Given the description of an element on the screen output the (x, y) to click on. 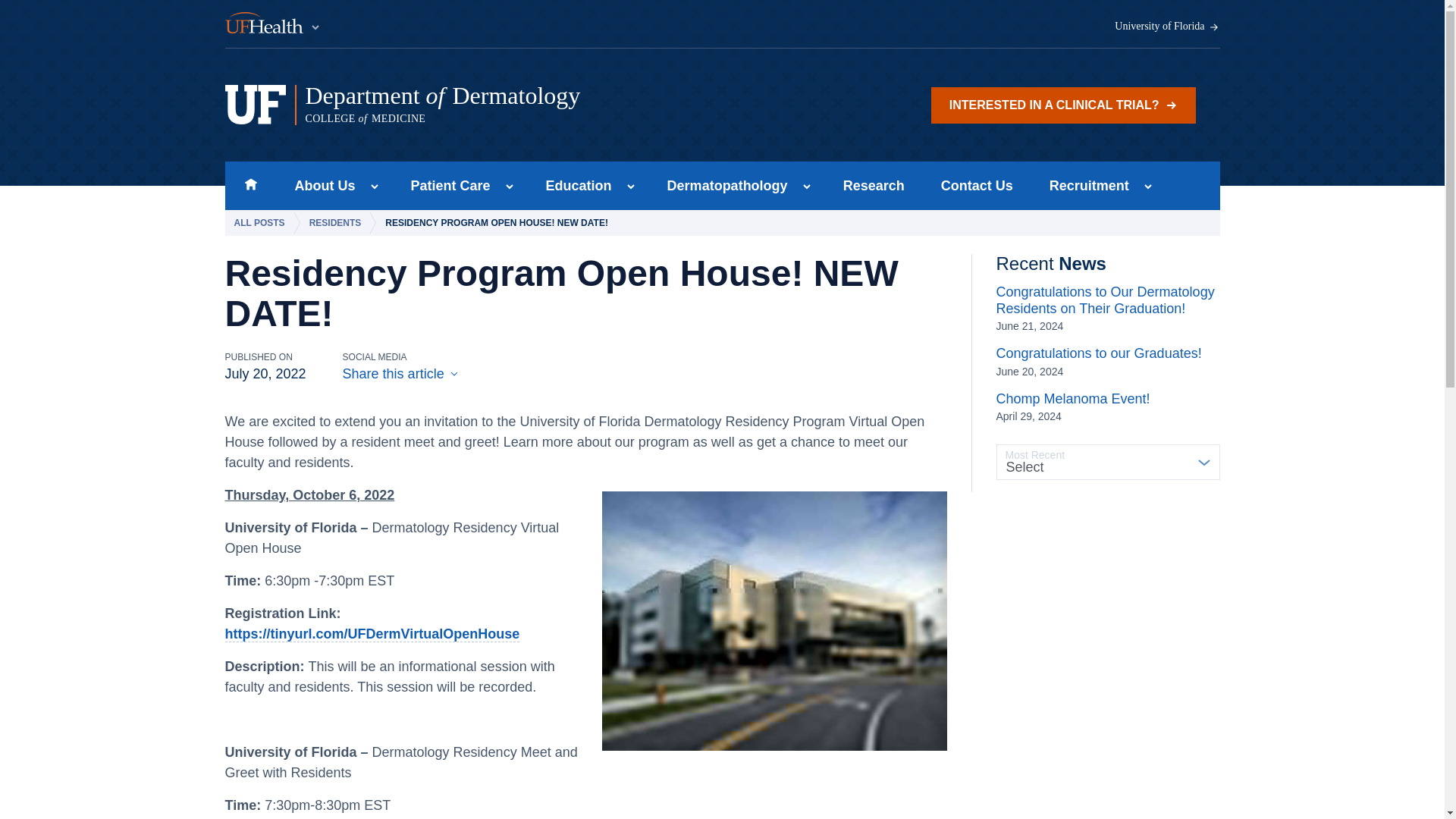
About Us (320, 185)
Education (574, 185)
UF Health (272, 24)
Patient Care (446, 185)
University of Florida (1167, 26)
Skip to main content (515, 105)
Page 1 (1063, 104)
